Given the description of an element on the screen output the (x, y) to click on. 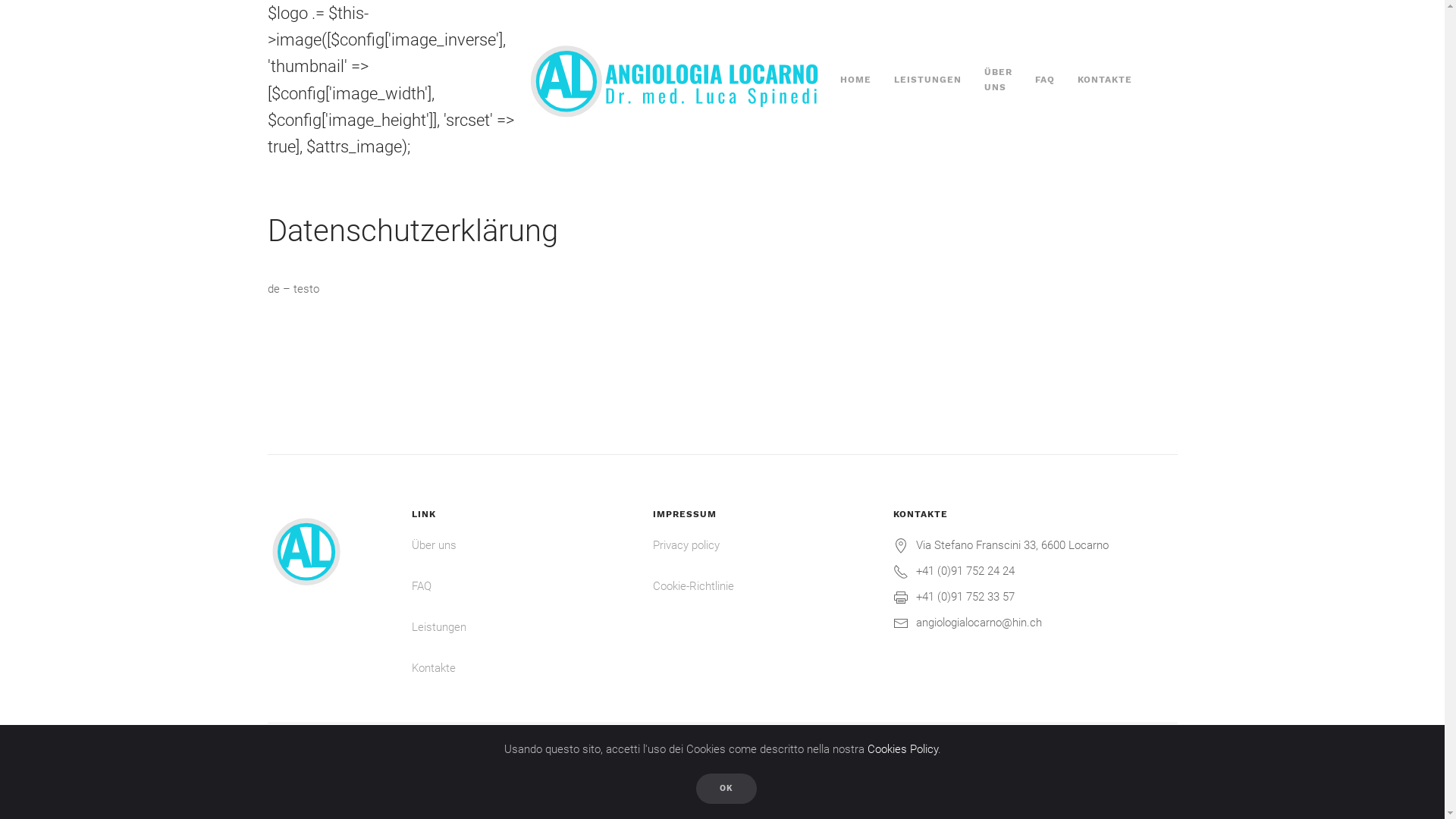
FAQ Element type: text (505, 585)
Leistungen Element type: text (505, 626)
FAQ Element type: text (1044, 80)
Cookies Policy Element type: text (902, 749)
Privacy policy Element type: text (746, 544)
KONTAKTE Element type: text (1104, 80)
Kontakte Element type: text (505, 667)
HOME Element type: text (854, 80)
OK Element type: text (726, 788)
Cookie-Richtlinie Element type: text (692, 586)
LEISTUNGEN Element type: text (927, 80)
